Given the description of an element on the screen output the (x, y) to click on. 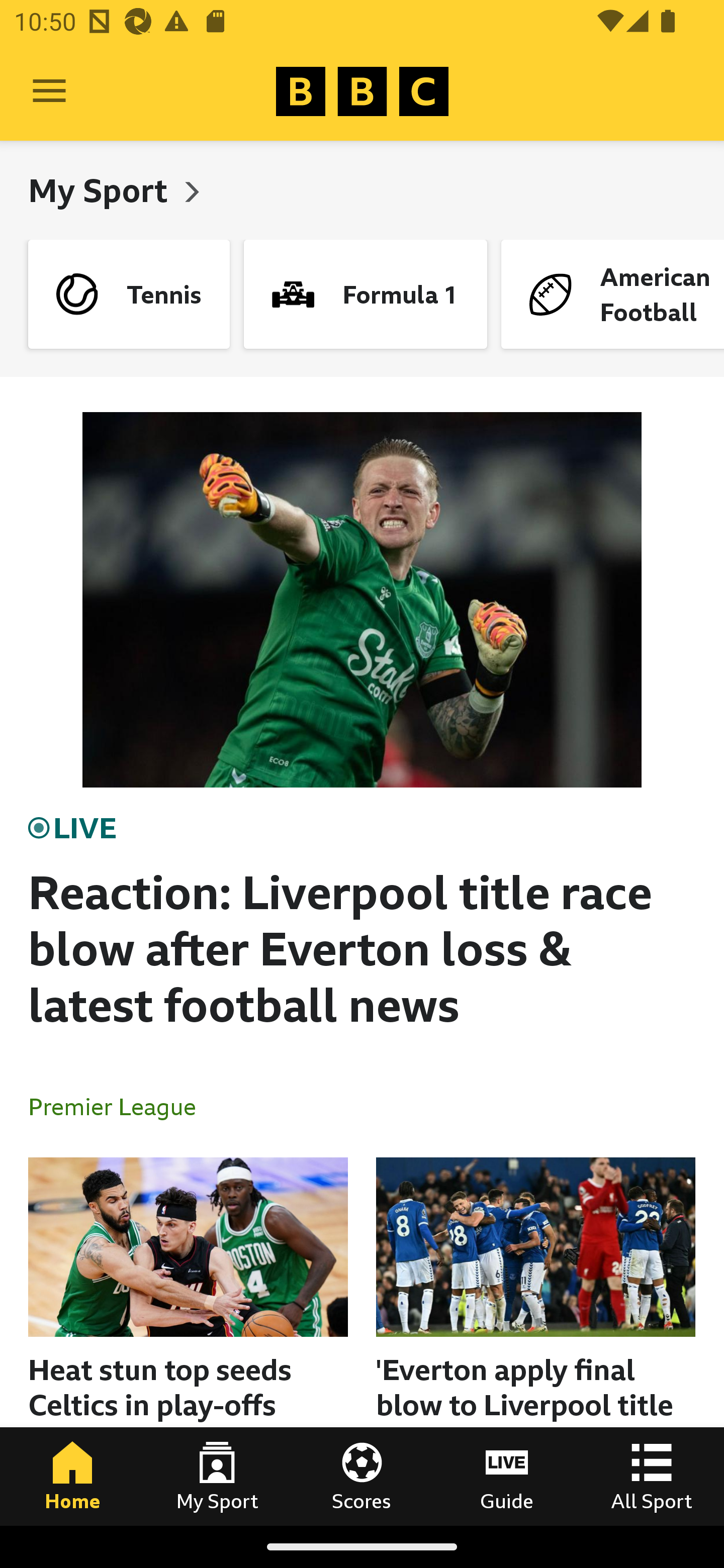
Open Menu (49, 91)
My Sport (101, 190)
Premier League In the section Premier League (119, 1106)
My Sport (216, 1475)
Scores (361, 1475)
Guide (506, 1475)
All Sport (651, 1475)
